Given the description of an element on the screen output the (x, y) to click on. 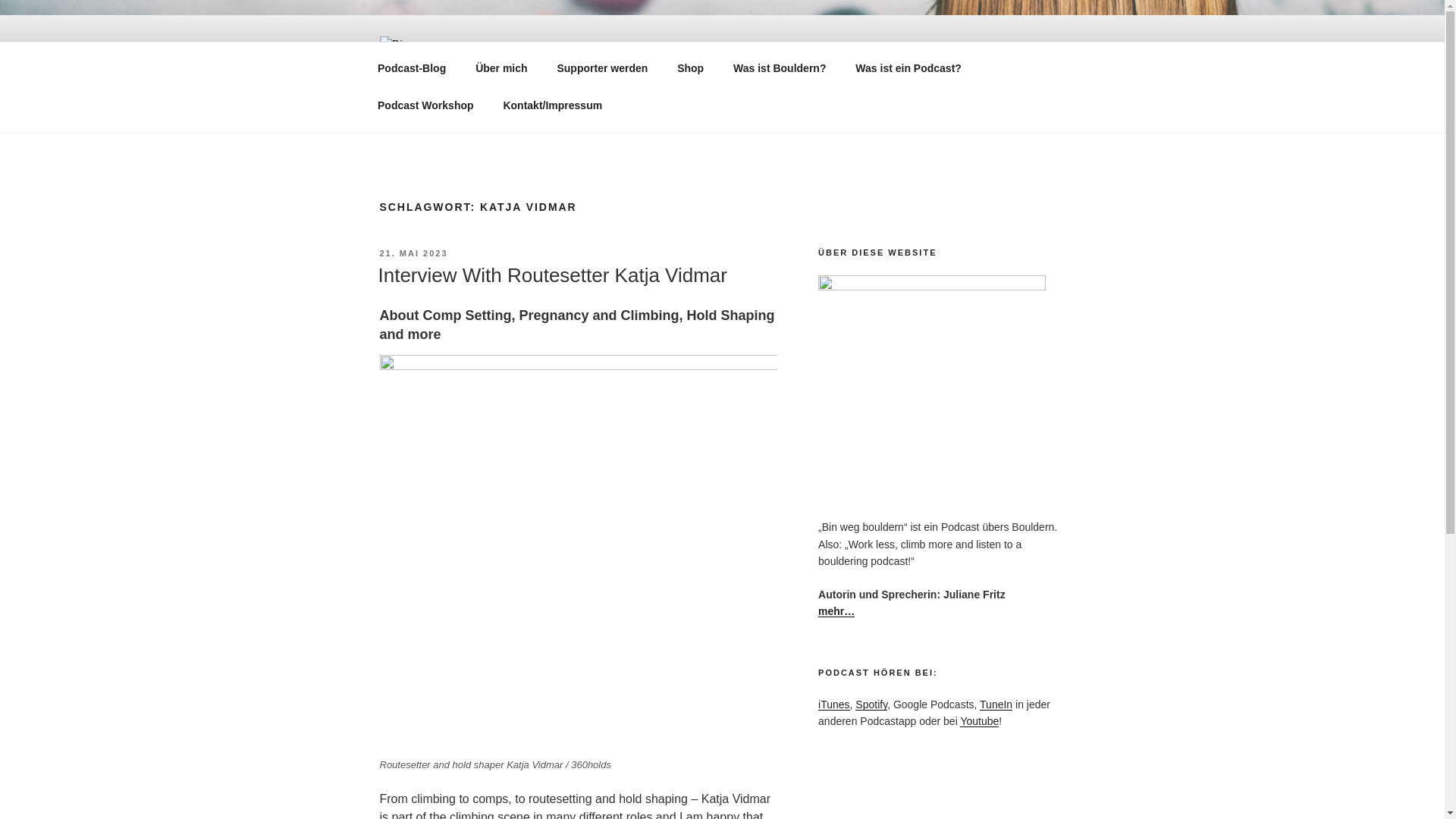
Was ist ein Podcast? (909, 67)
Supporter werden (602, 67)
Was ist Bouldern? (780, 67)
Podcast-Blog (411, 67)
BIN WEG BOULDERN (536, 113)
Podcast Workshop (425, 105)
Spotify (871, 704)
Youtube (978, 720)
Shop (690, 67)
iTunes (834, 704)
